Given the description of an element on the screen output the (x, y) to click on. 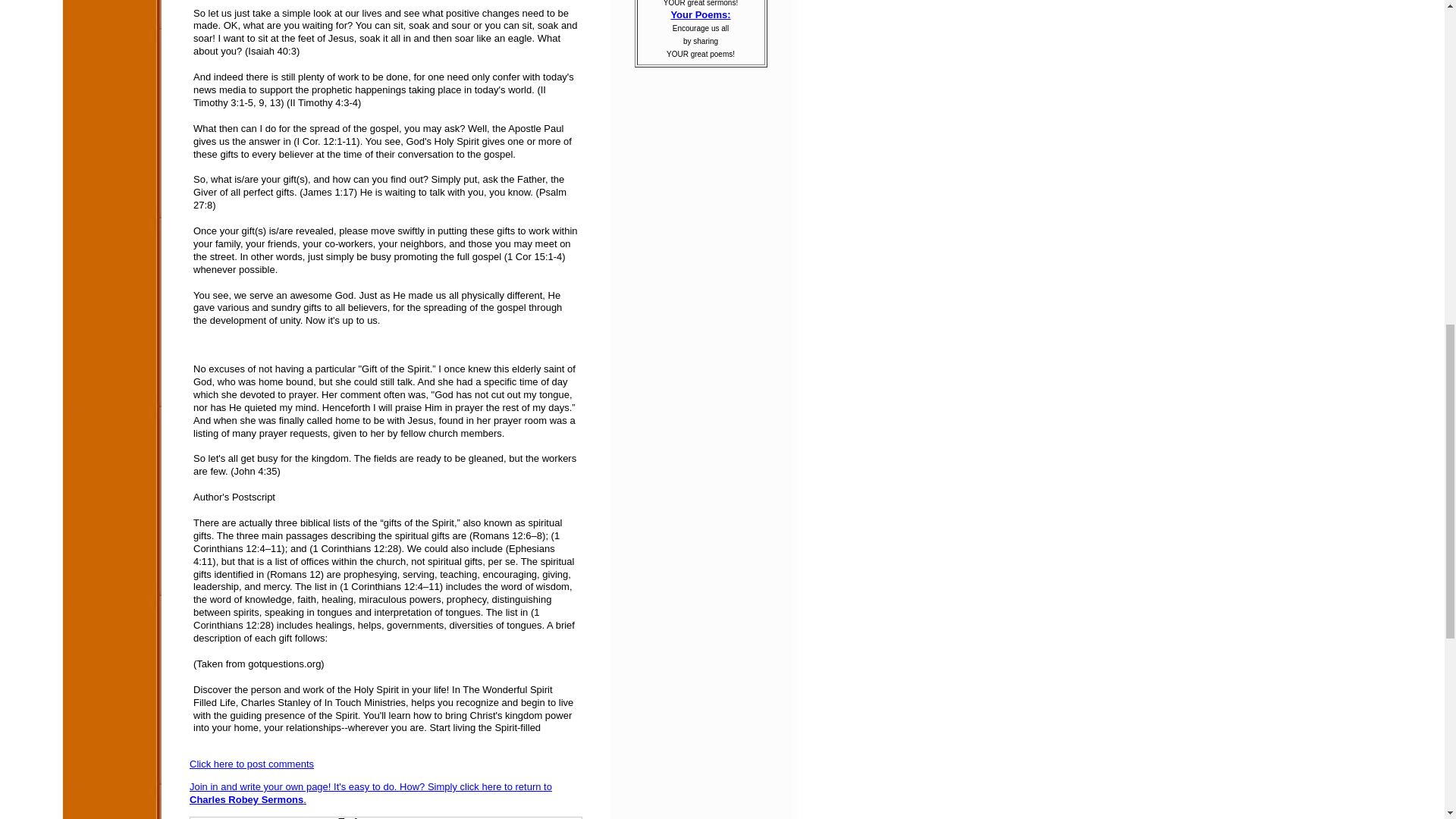
Click here to post comments (251, 763)
